Given the description of an element on the screen output the (x, y) to click on. 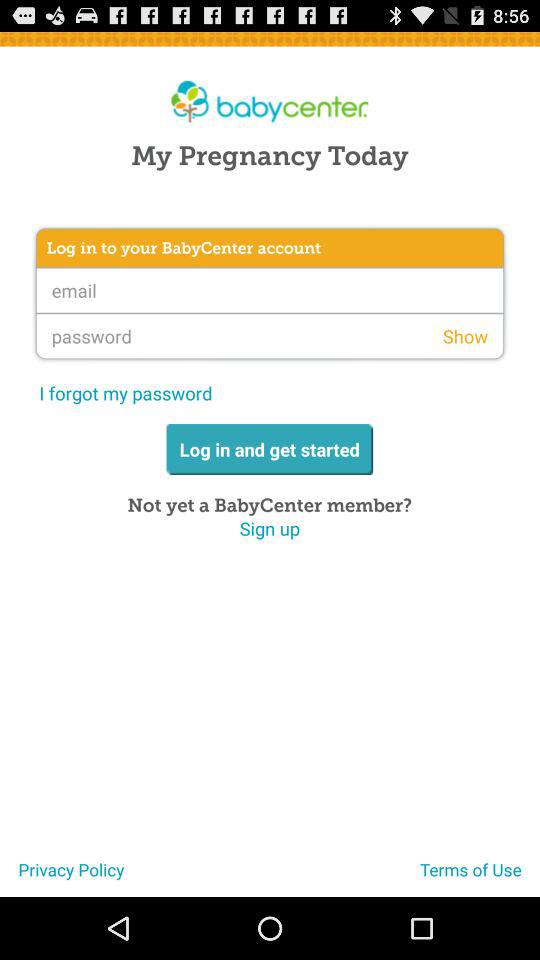
turn off icon below the sign up icon (62, 877)
